Given the description of an element on the screen output the (x, y) to click on. 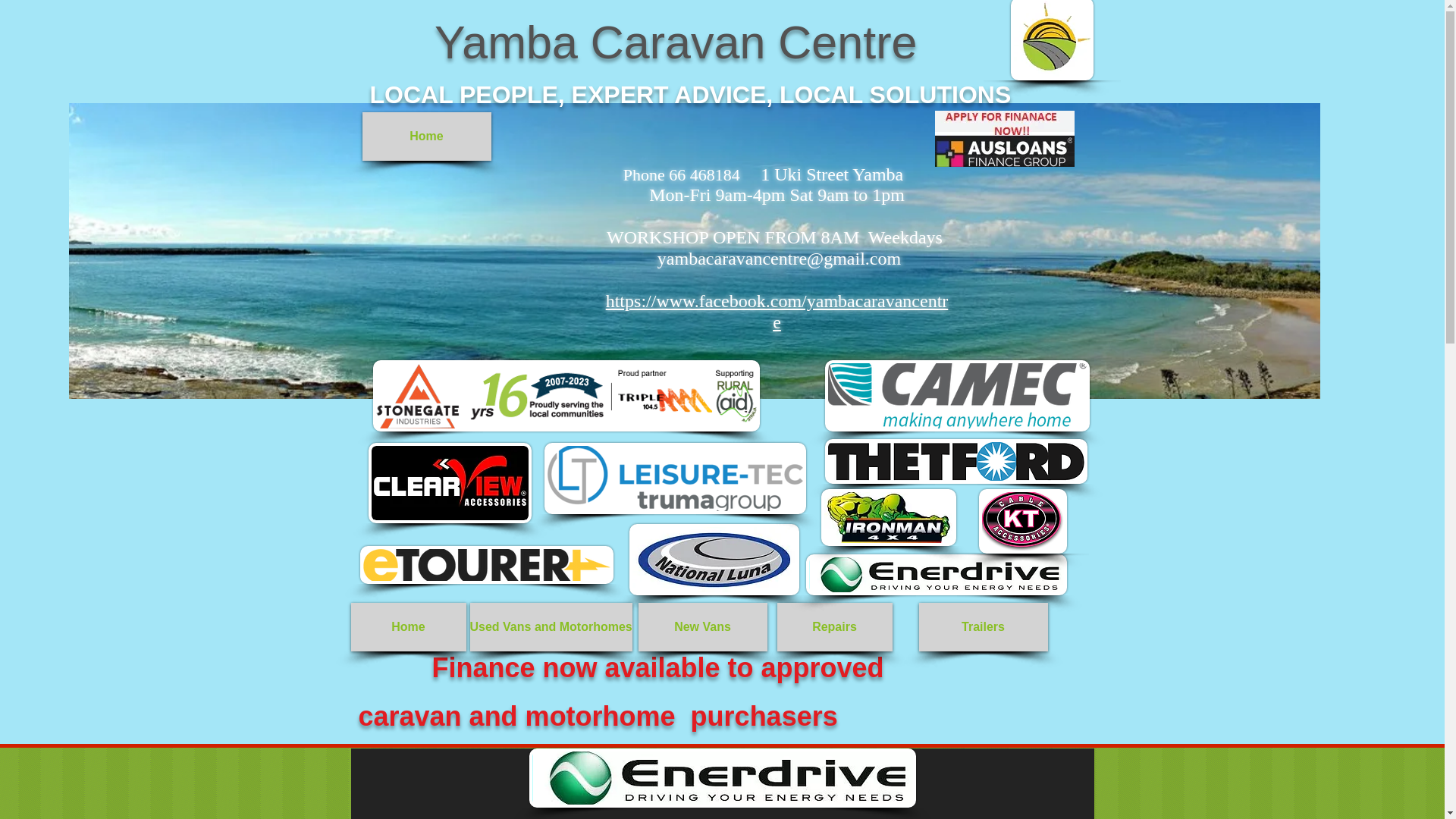
New Vans (703, 626)
Used Vans and Motorhomes (550, 626)
Trailers (983, 626)
apply now.jpg (1004, 138)
Home (407, 626)
Repairs (833, 626)
apply now.jpg (336, 223)
why aus loans.jpg (558, 223)
Home (427, 136)
